Given the description of an element on the screen output the (x, y) to click on. 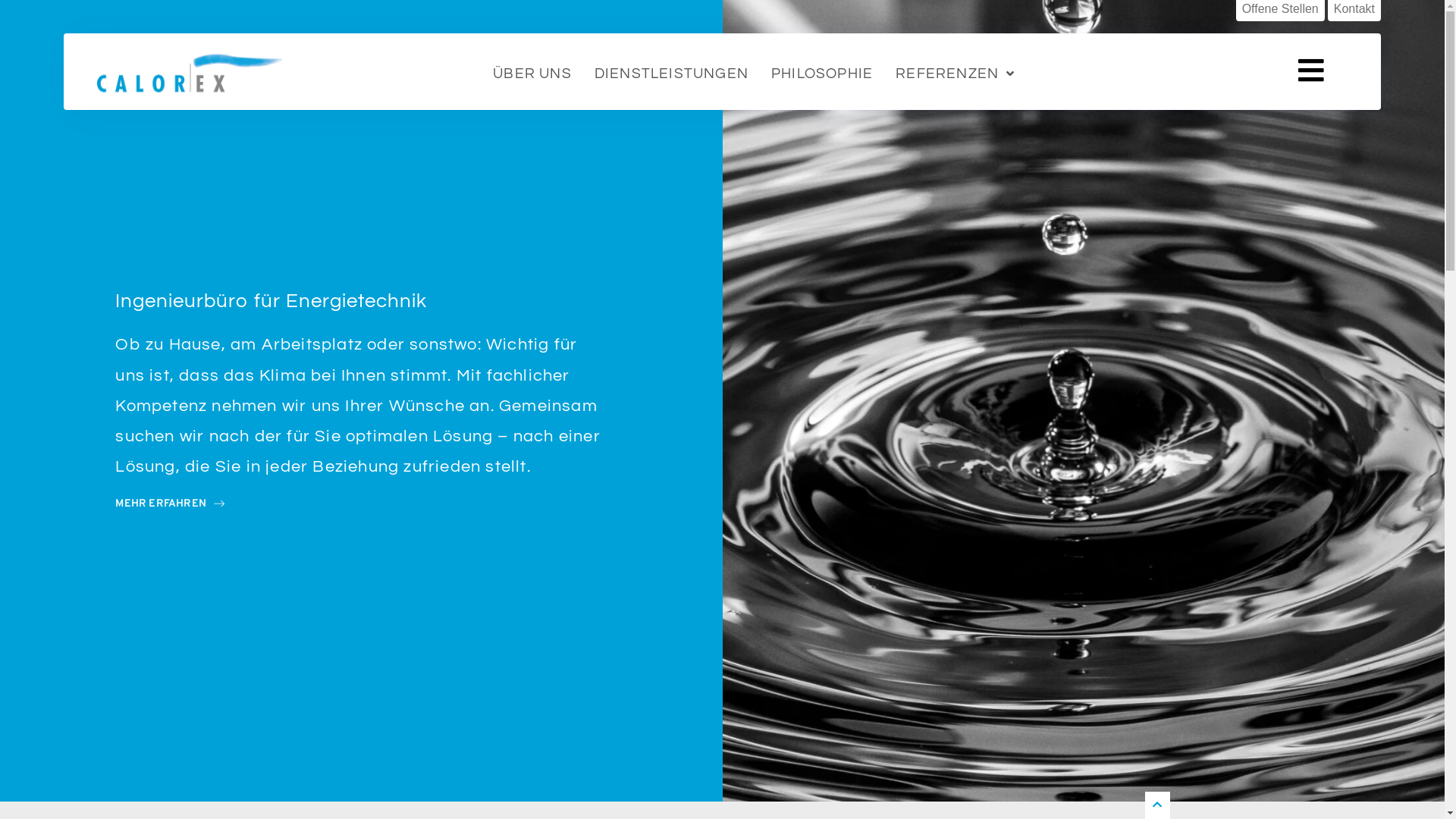
PHILOSOPHIE Element type: text (821, 75)
ARROW-ICON-SIZE3
MEHR ERFAHREN Element type: text (169, 503)
REFERENZEN Element type: text (954, 75)
DIENSTLEISTUNGEN Element type: text (671, 75)
